Given the description of an element on the screen output the (x, y) to click on. 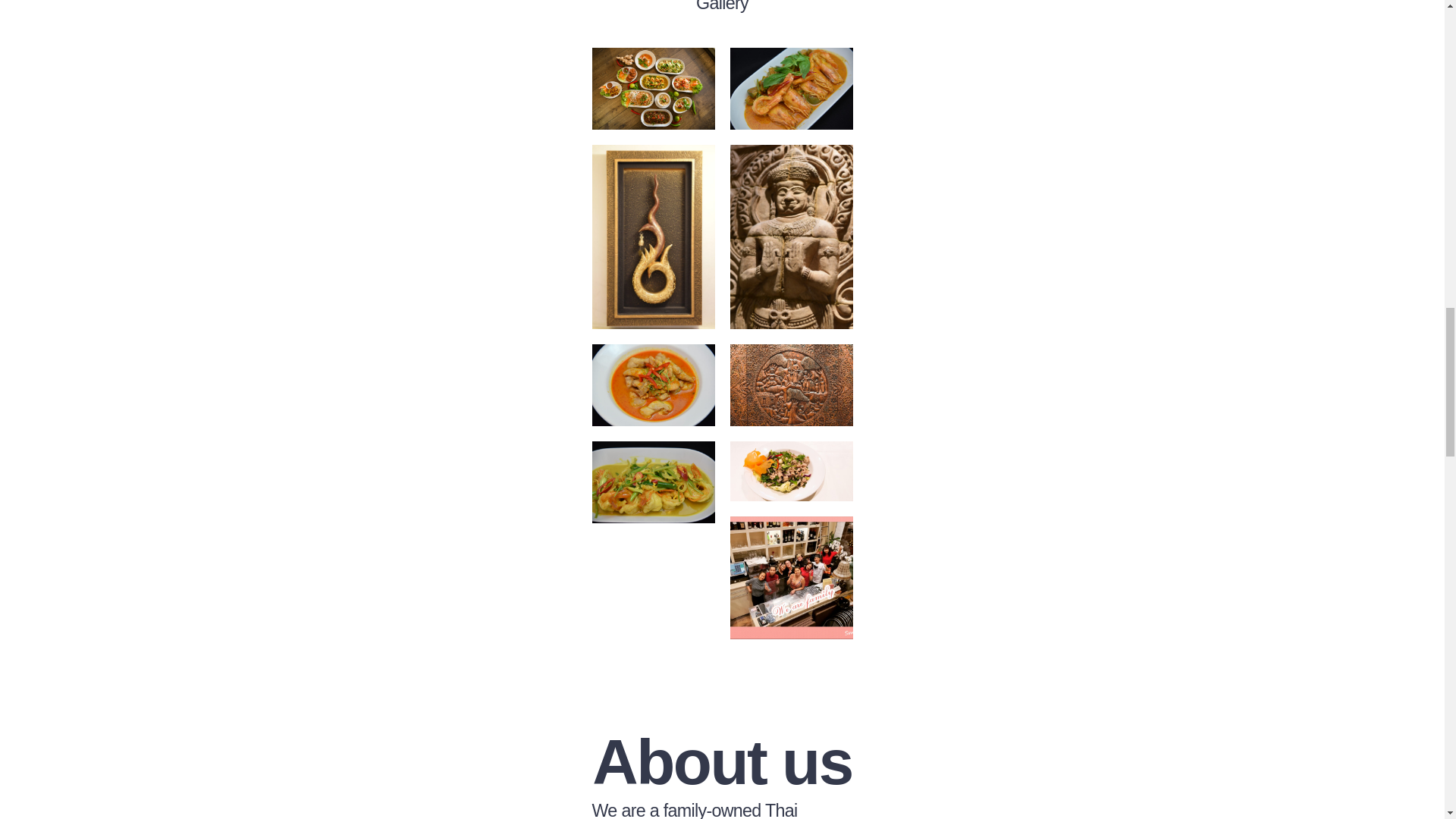
2018-03-18-12-04-36 (790, 471)
2 (790, 577)
